Given the description of an element on the screen output the (x, y) to click on. 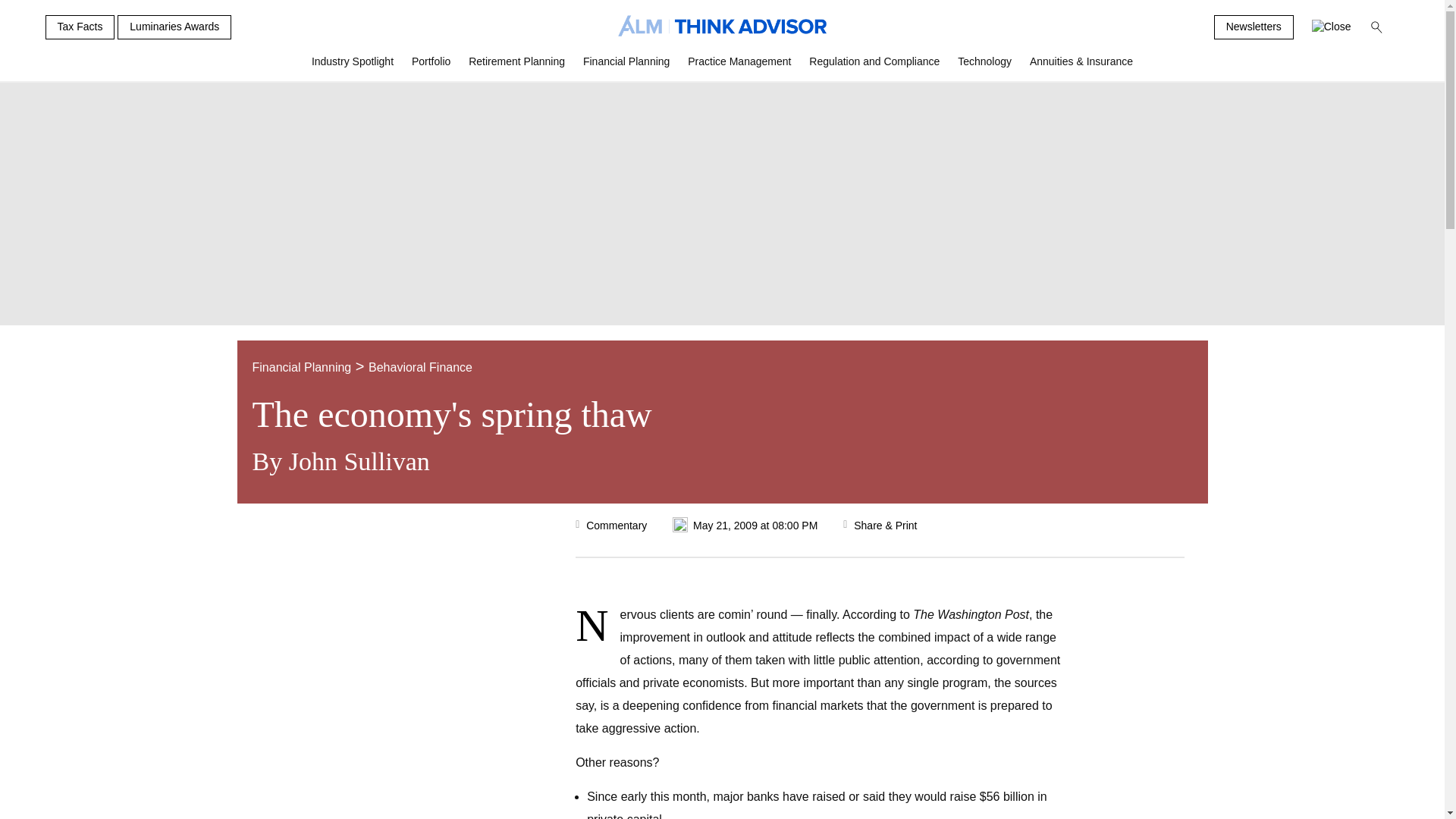
Tax Facts (80, 27)
Newsletters (1254, 27)
Industry Spotlight (352, 67)
Luminaries Awards (174, 27)
